Given the description of an element on the screen output the (x, y) to click on. 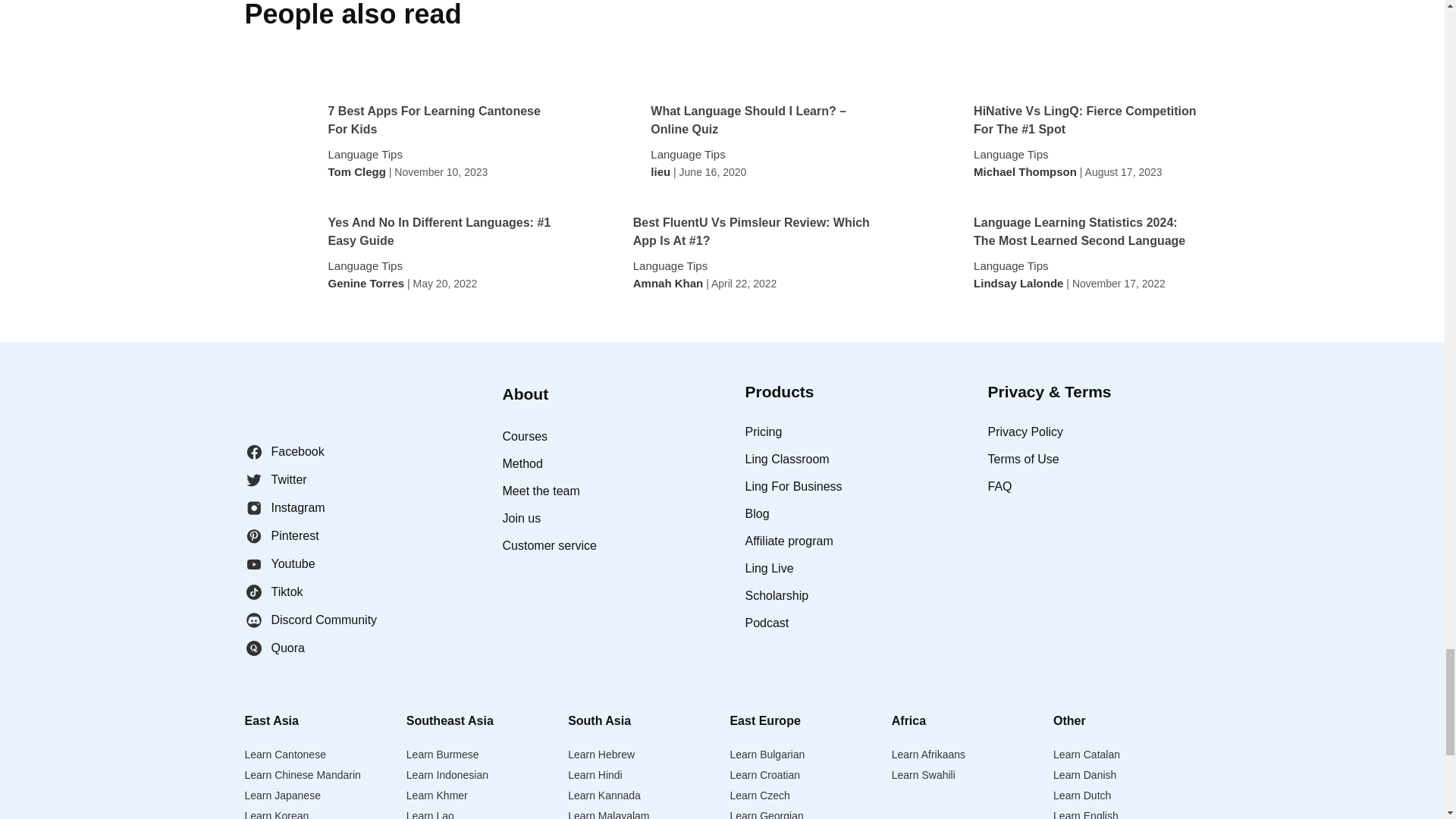
7 Best Apps For Learning Cantonese For Kids (439, 120)
